Given the description of an element on the screen output the (x, y) to click on. 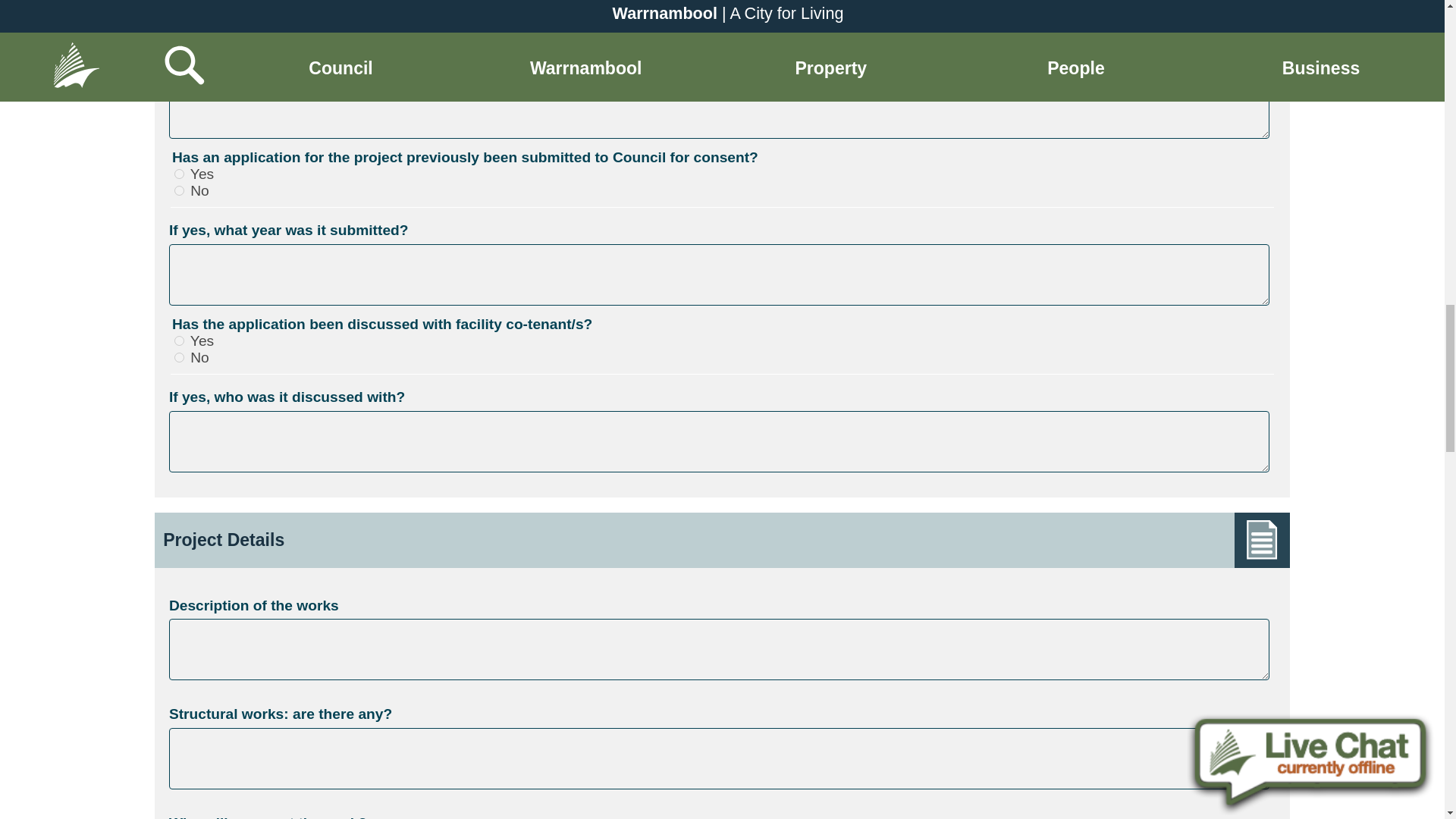
No (179, 23)
Yes (179, 173)
No (179, 190)
Yes (179, 7)
No (179, 357)
Yes (179, 340)
